Given the description of an element on the screen output the (x, y) to click on. 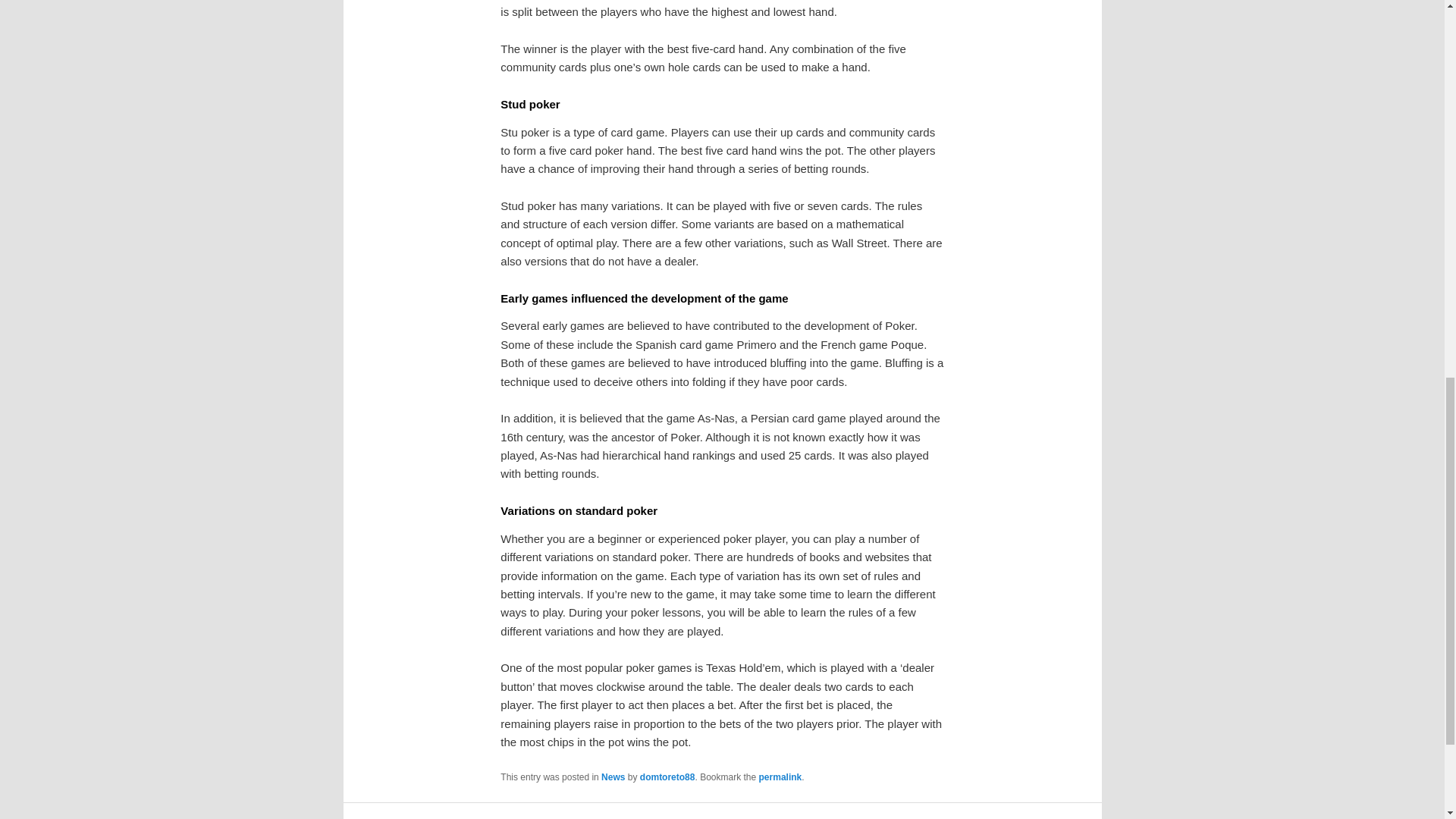
domtoreto88 (667, 777)
Permalink to The Different Types of Poker Games (780, 777)
News (612, 777)
permalink (780, 777)
